Given the description of an element on the screen output the (x, y) to click on. 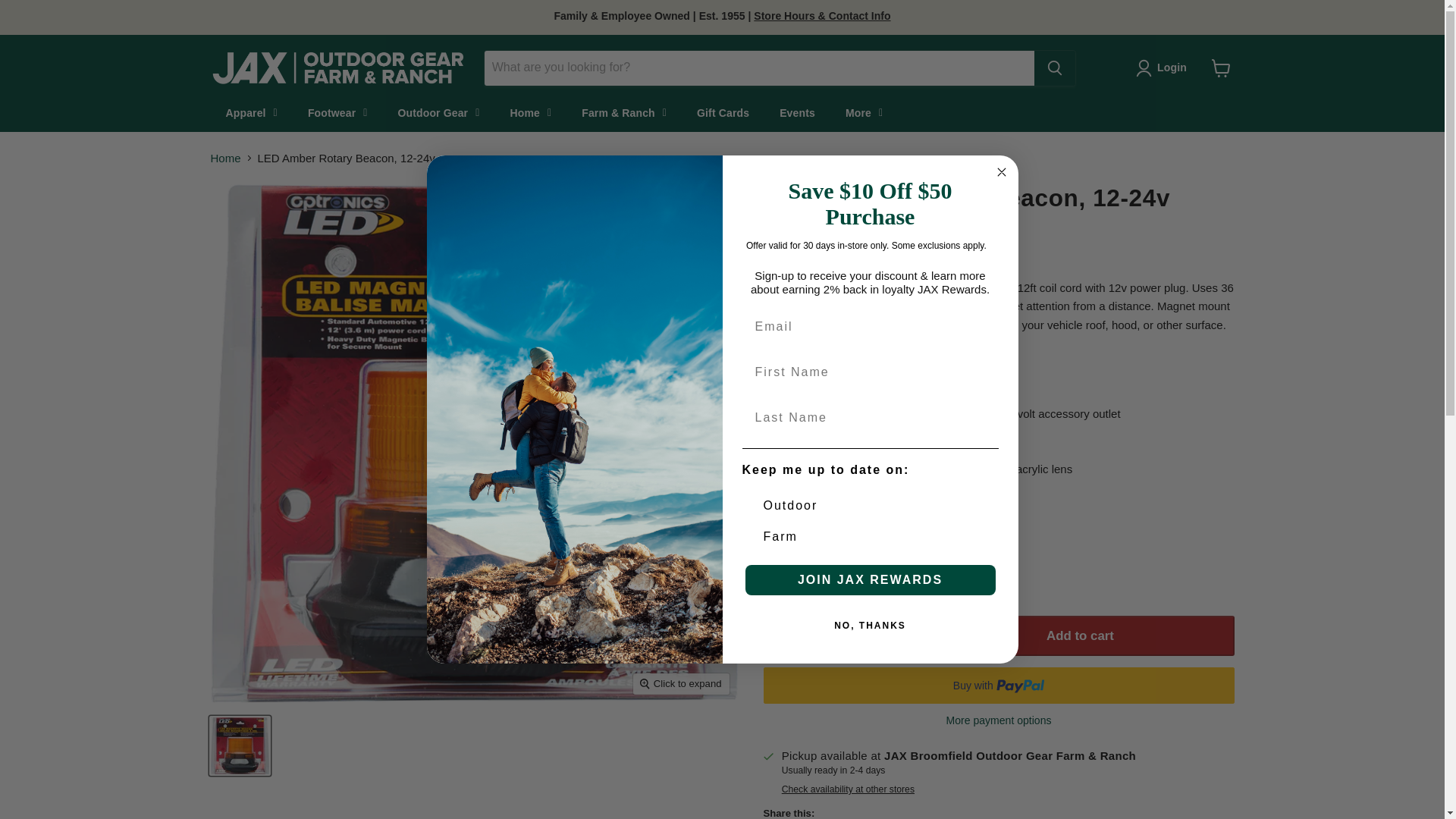
Login (1163, 67)
on (746, 523)
Apparel (251, 112)
View cart (1221, 68)
on (746, 492)
Apparel (251, 112)
1 (838, 636)
